Given the description of an element on the screen output the (x, y) to click on. 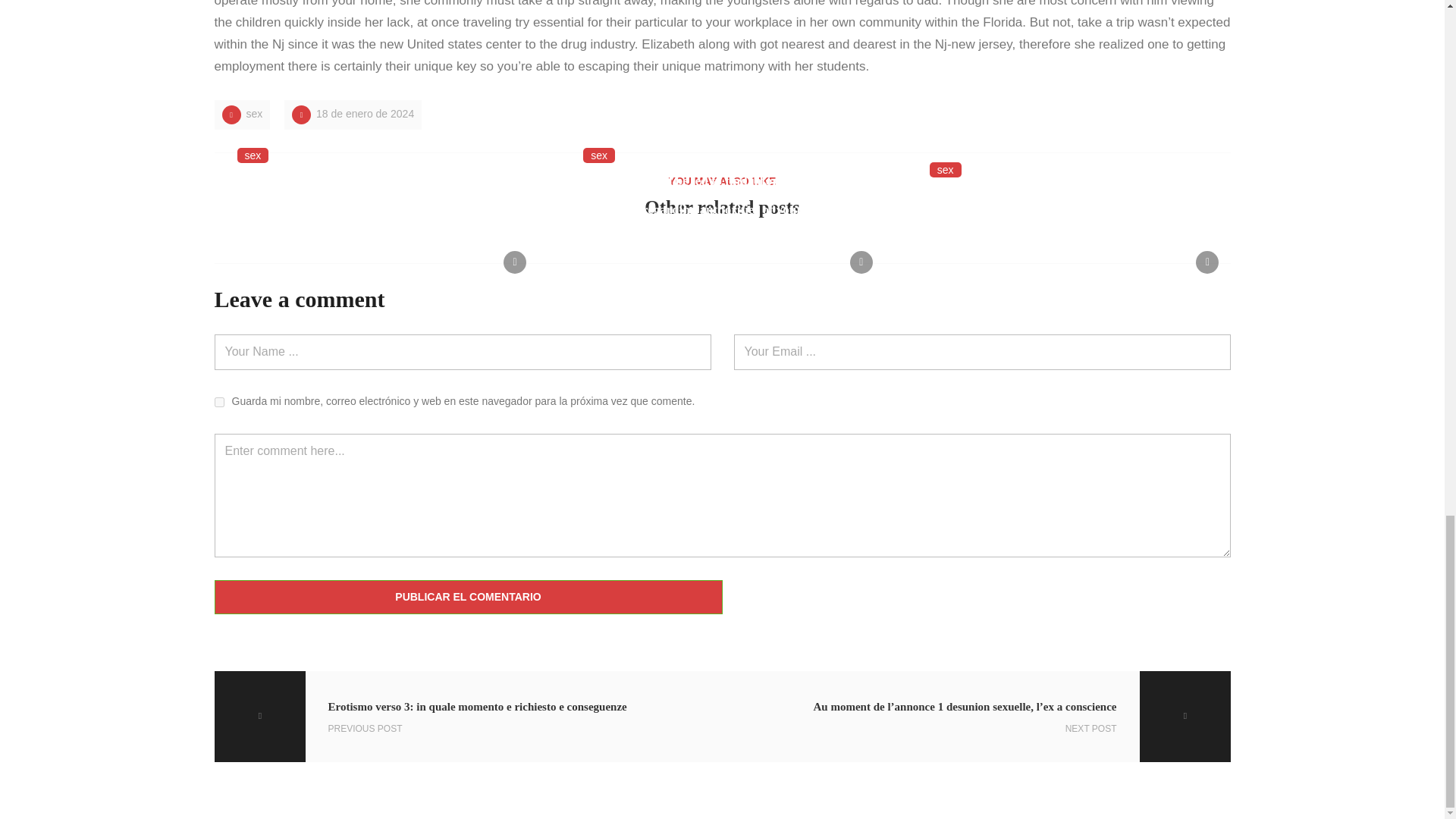
Erotismo verso 3: in quale momento e richiesto e conseguenze (468, 716)
Publicar el comentario (468, 597)
yes (219, 402)
